Given the description of an element on the screen output the (x, y) to click on. 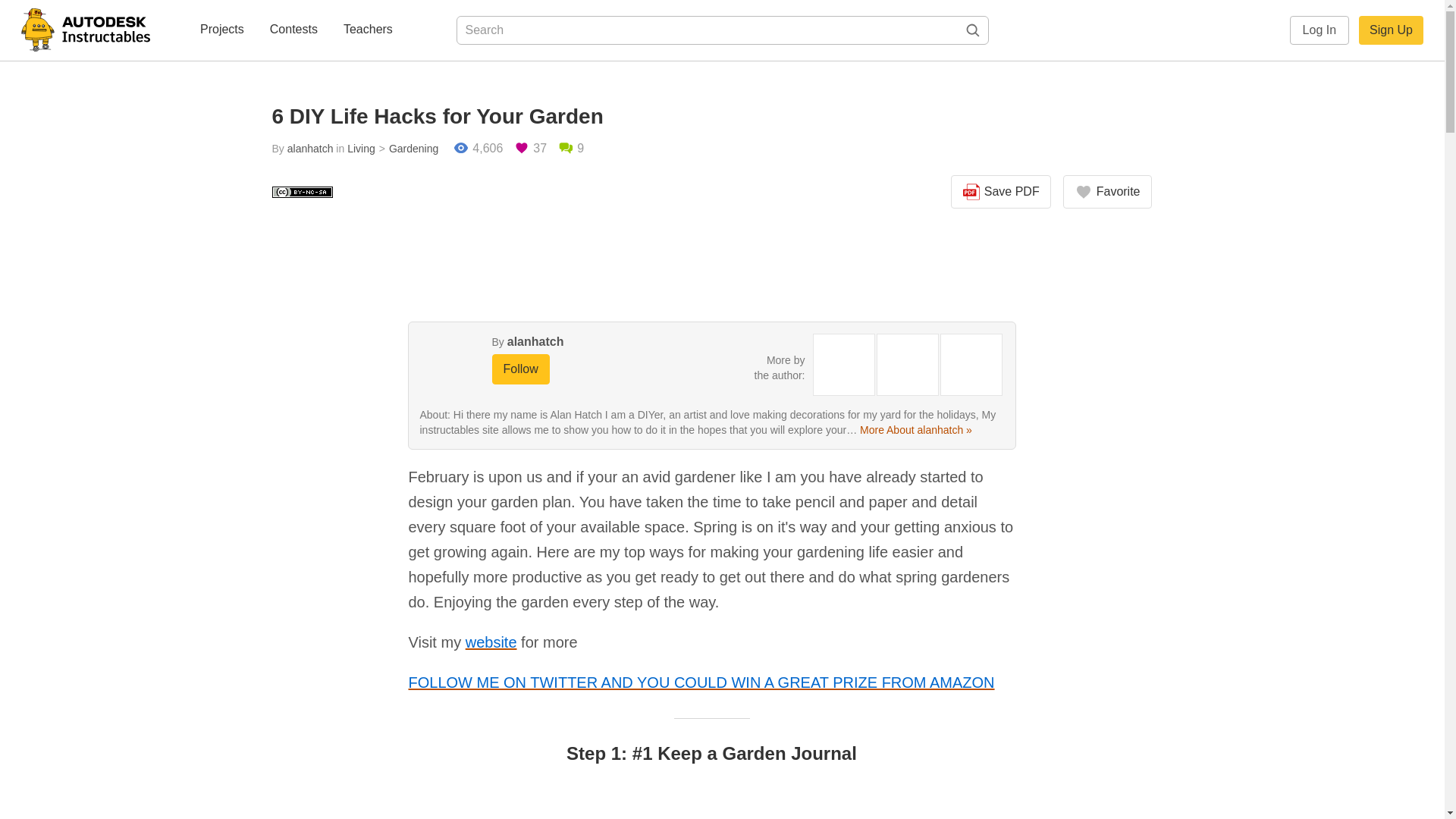
Projects (221, 30)
alanhatch (309, 148)
Living (361, 148)
9 (570, 148)
website (490, 641)
Gardening (407, 148)
Sign Up (1390, 30)
Follow (520, 368)
Log In (1319, 30)
Teachers (368, 30)
alanhatch (535, 341)
Favorite (1106, 191)
Save PDF (1000, 191)
Contests (293, 30)
